Given the description of an element on the screen output the (x, y) to click on. 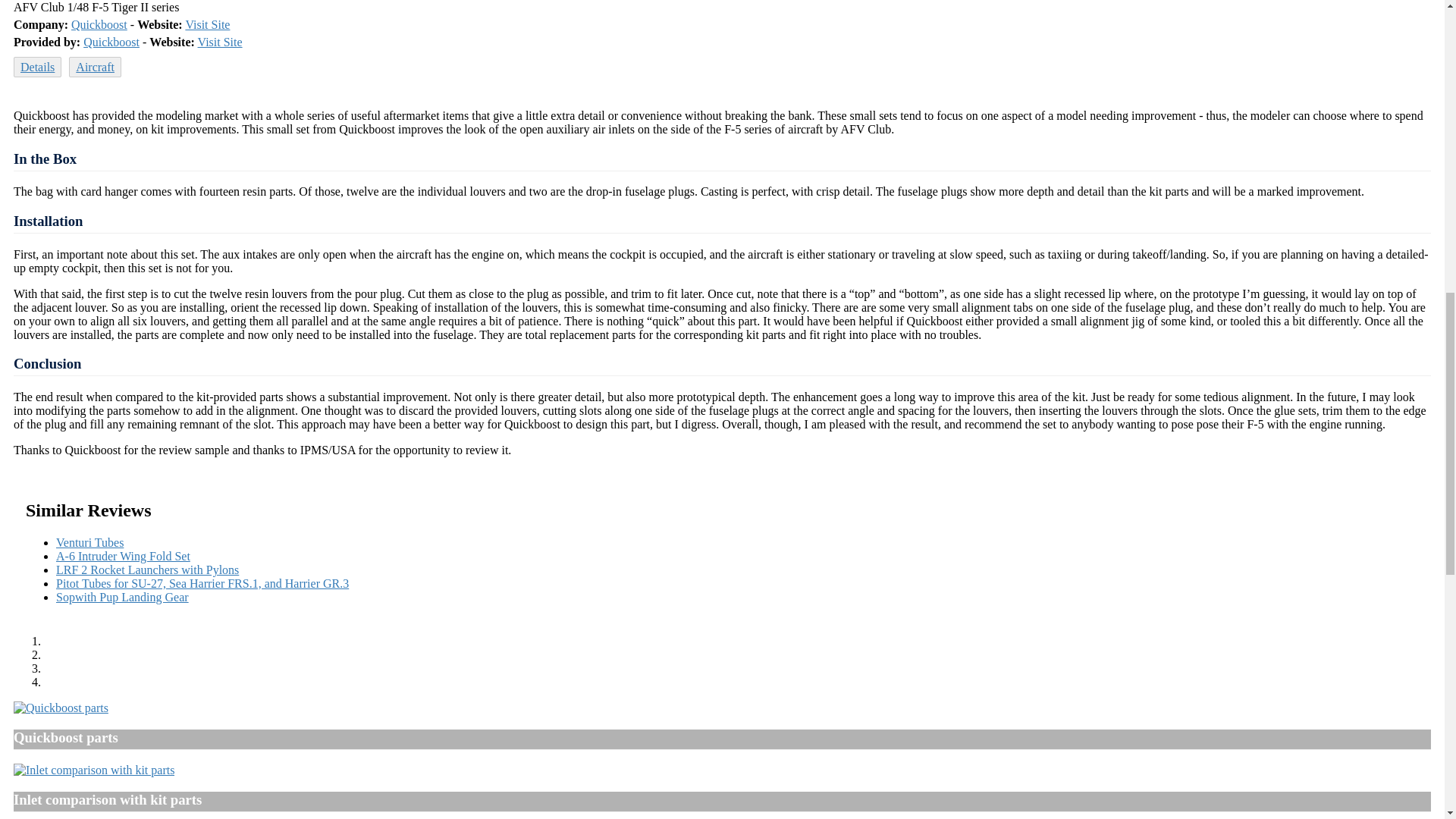
Quickboost parts (60, 707)
Sopwith Pup Landing Gear (122, 596)
Quickboost (99, 24)
Quickboost (110, 42)
Visit Site (207, 24)
Aircraft (94, 66)
Details (37, 66)
Quickboost parts (60, 707)
Pitot Tubes for SU-27, Sea Harrier FRS.1, and Harrier GR.3 (202, 583)
LRF 2 Rocket Launchers with Pylons (147, 569)
A-6 Intruder Wing Fold Set (123, 555)
Visit Site (220, 42)
Venturi Tubes (89, 542)
